Given the description of an element on the screen output the (x, y) to click on. 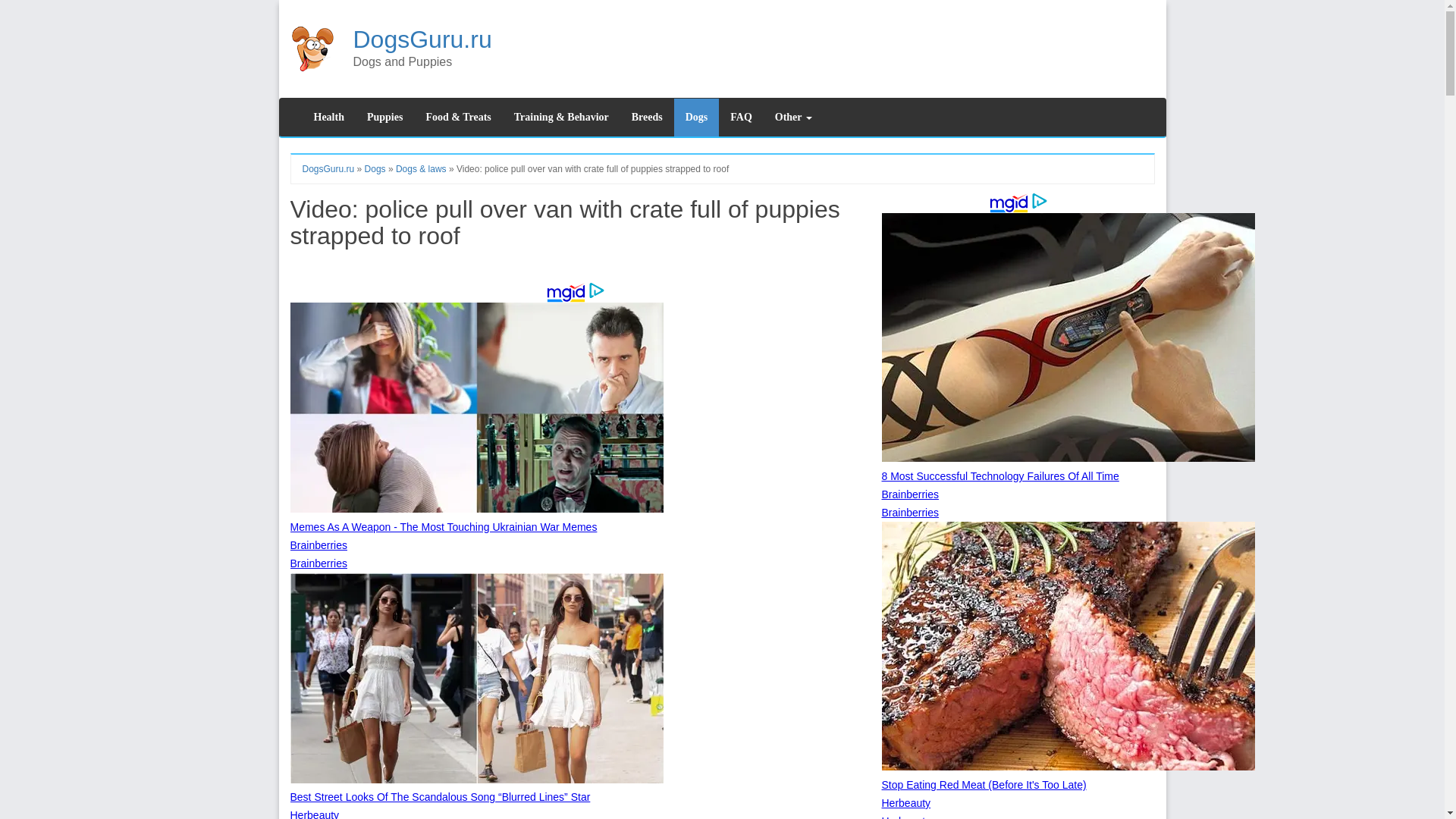
FAQ (740, 117)
Puppies (384, 117)
DogsGuru.ru (422, 39)
Breeds (647, 117)
Dogs (375, 168)
Health (328, 117)
Dogs (696, 117)
Other (793, 117)
DogsGuru.ru (327, 168)
